Given the description of an element on the screen output the (x, y) to click on. 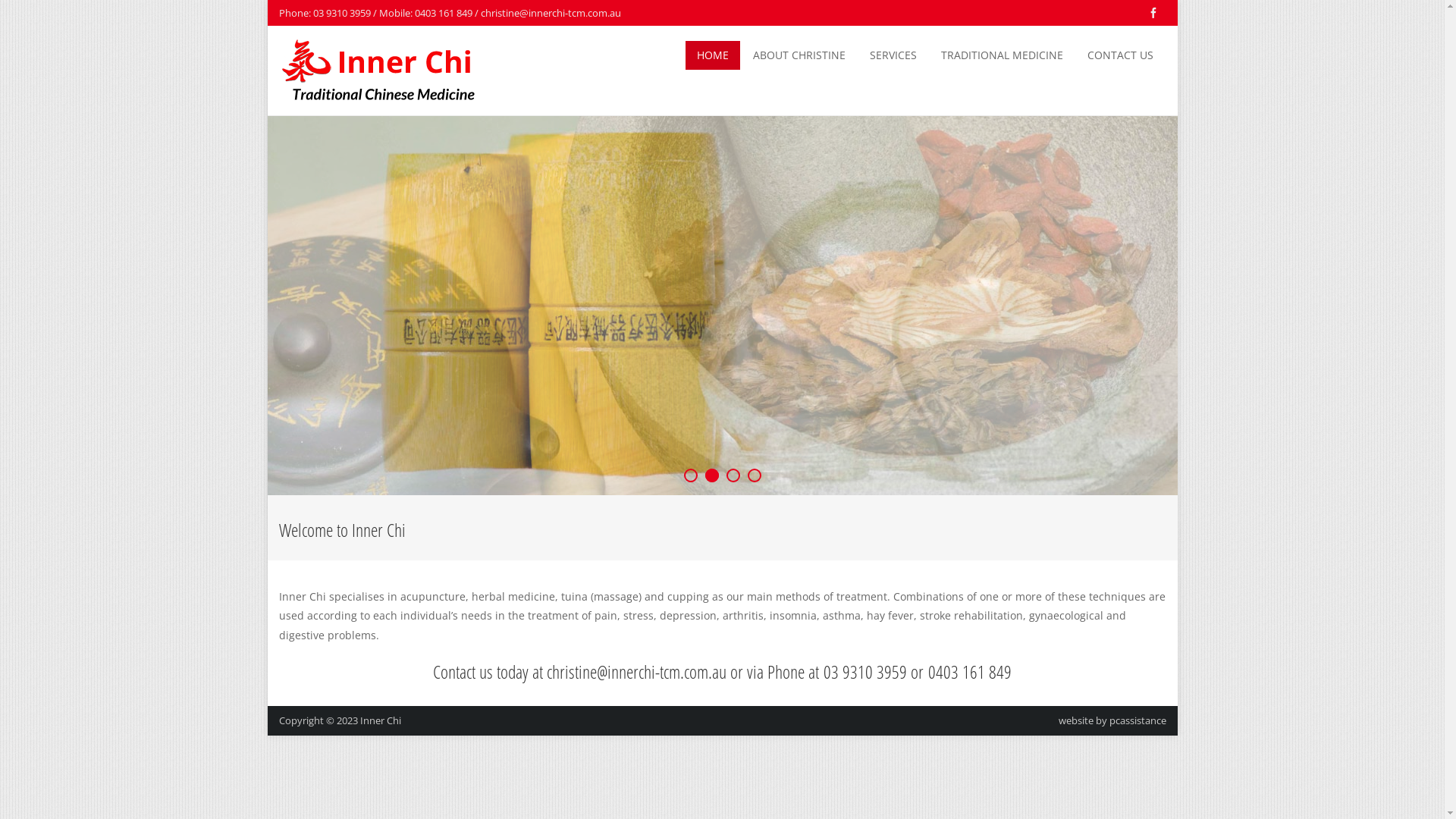
1 Element type: text (690, 475)
2 Element type: text (711, 475)
CONTACT US Element type: text (1119, 54)
ABOUT CHRISTINE Element type: text (798, 54)
4 Element type: text (754, 475)
TRADITIONAL MEDICINE Element type: text (1001, 54)
Inner Chi Element type: text (379, 720)
HOME Element type: text (712, 54)
SERVICES Element type: text (893, 54)
3 Element type: text (733, 475)
